Given the description of an element on the screen output the (x, y) to click on. 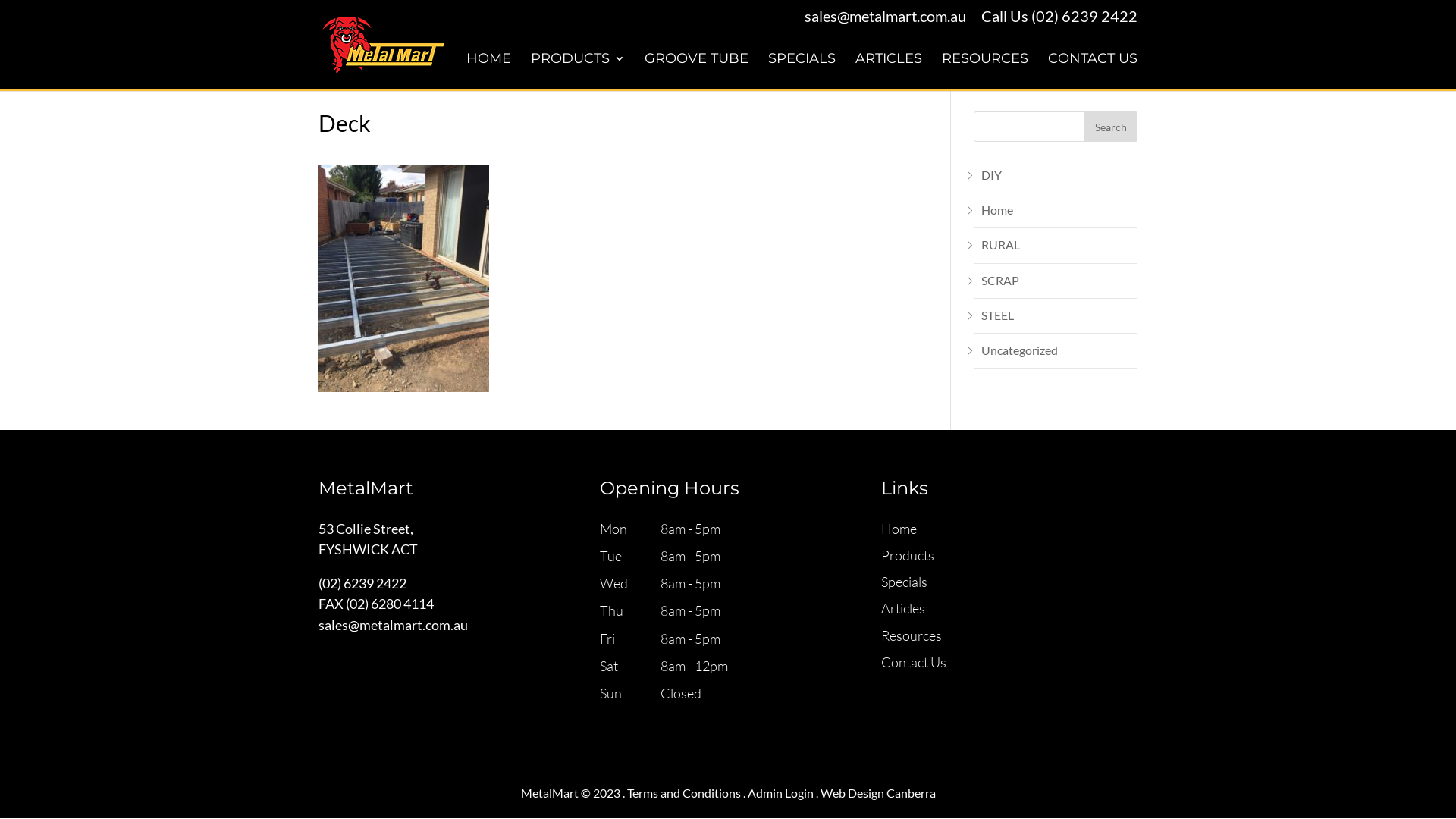
SPECIALS Element type: text (801, 70)
Web Design Canberra Element type: text (877, 792)
Terms and Conditions Element type: text (683, 792)
sales@metalmart.com.au Element type: text (885, 15)
STEEL Element type: text (997, 314)
Home Element type: text (997, 209)
RURAL Element type: text (1000, 244)
CONTACT US Element type: text (1092, 70)
Specials Element type: text (904, 581)
Admin Login Element type: text (780, 792)
HOME Element type: text (488, 70)
Resources Element type: text (911, 635)
GROOVE TUBE Element type: text (696, 70)
Home Element type: text (898, 528)
Contact Us Element type: text (913, 661)
Products Element type: text (907, 554)
SCRAP Element type: text (1000, 280)
Search Element type: text (1110, 126)
Articles Element type: text (903, 607)
DIY Element type: text (991, 174)
(02) 6239 2422 Element type: text (1084, 15)
ARTICLES Element type: text (888, 70)
RESOURCES Element type: text (984, 70)
sales@metalmart.com.au Element type: text (392, 624)
Uncategorized Element type: text (1019, 349)
PRODUCTS Element type: text (577, 70)
